Given the description of an element on the screen output the (x, y) to click on. 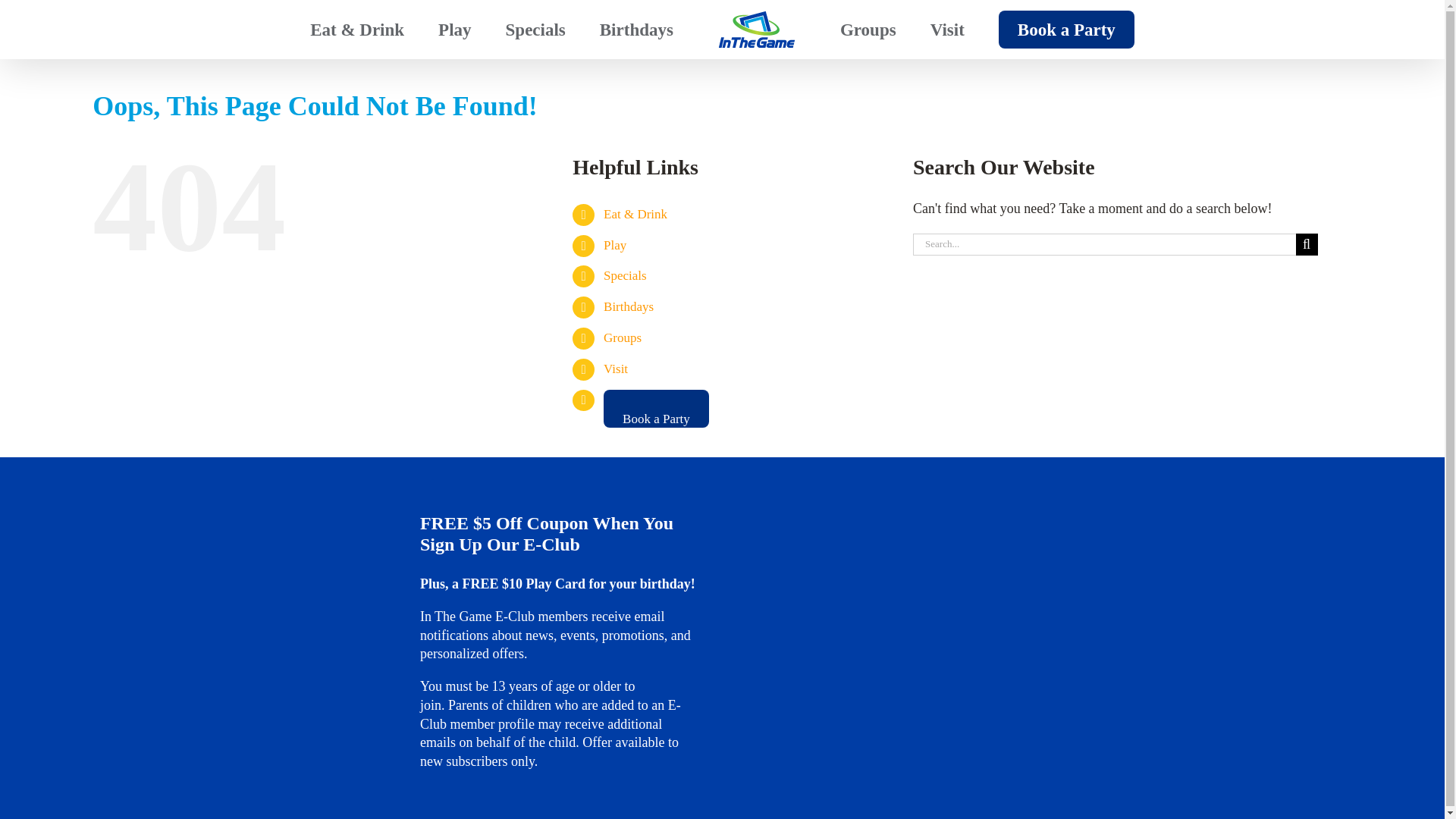
Birthdays (635, 29)
Groups (868, 29)
Specials (535, 29)
